Given the description of an element on the screen output the (x, y) to click on. 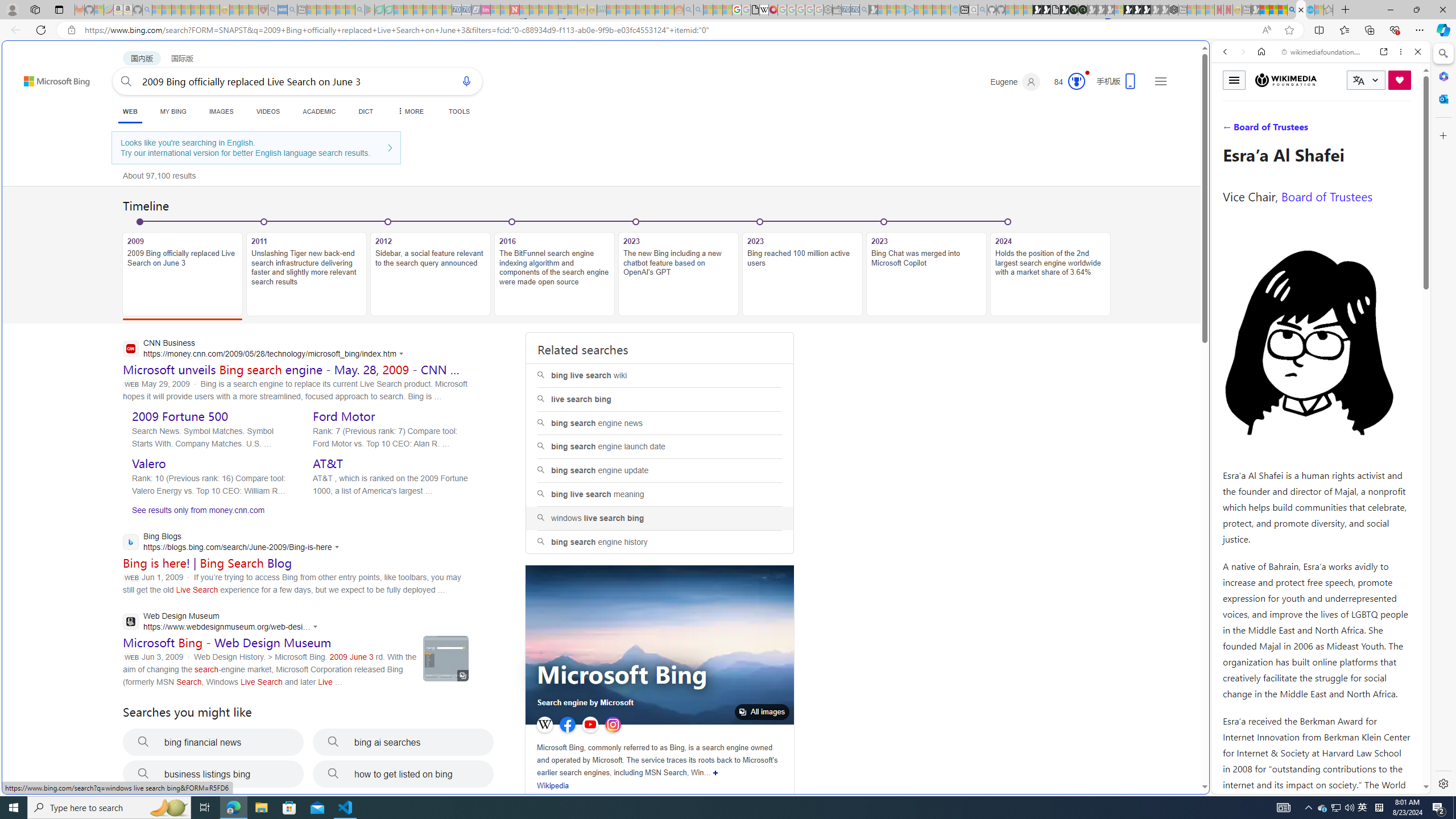
ACADEMIC (319, 111)
New Report Confirms 2023 Was Record Hot | Watch - Sleeping (195, 9)
CURRENT LANGUAGE: (1366, 80)
Search Filter, IMAGES (1262, 129)
Actions for this site (1370, 583)
Microsoft Bing - Web Design Museum (226, 642)
2009 2009 Bing officially replaced Live Search on June 3 (181, 273)
